Given the description of an element on the screen output the (x, y) to click on. 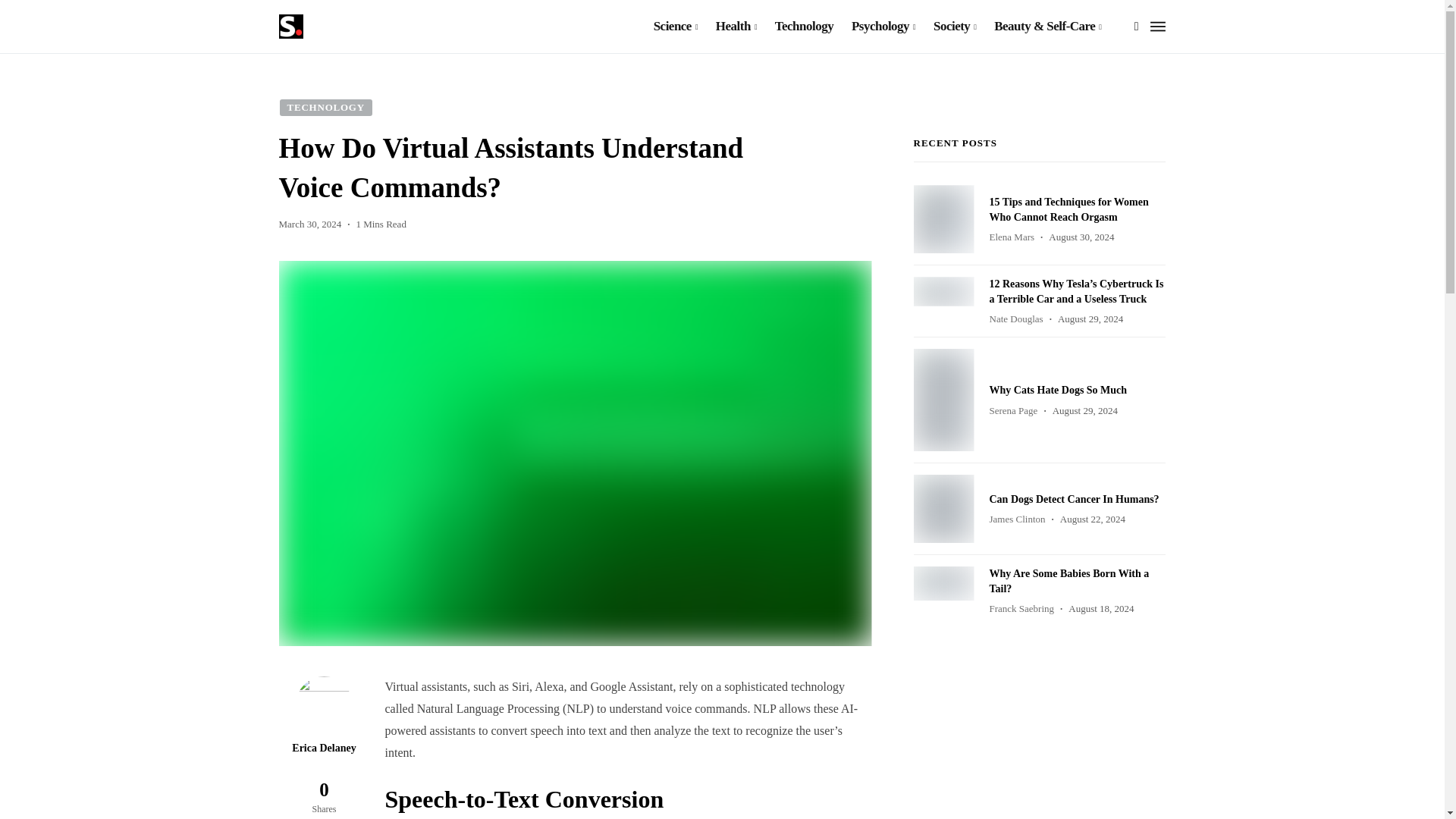
Posts by Serena Page (1012, 410)
Posts by Nate Douglas (1015, 318)
Technology (803, 26)
Posts by Elena Mars (1010, 236)
Psychology (883, 26)
15 Tips and Techniques for Women Who Cannot Reach Orgasm 5 (943, 219)
